Given the description of an element on the screen output the (x, y) to click on. 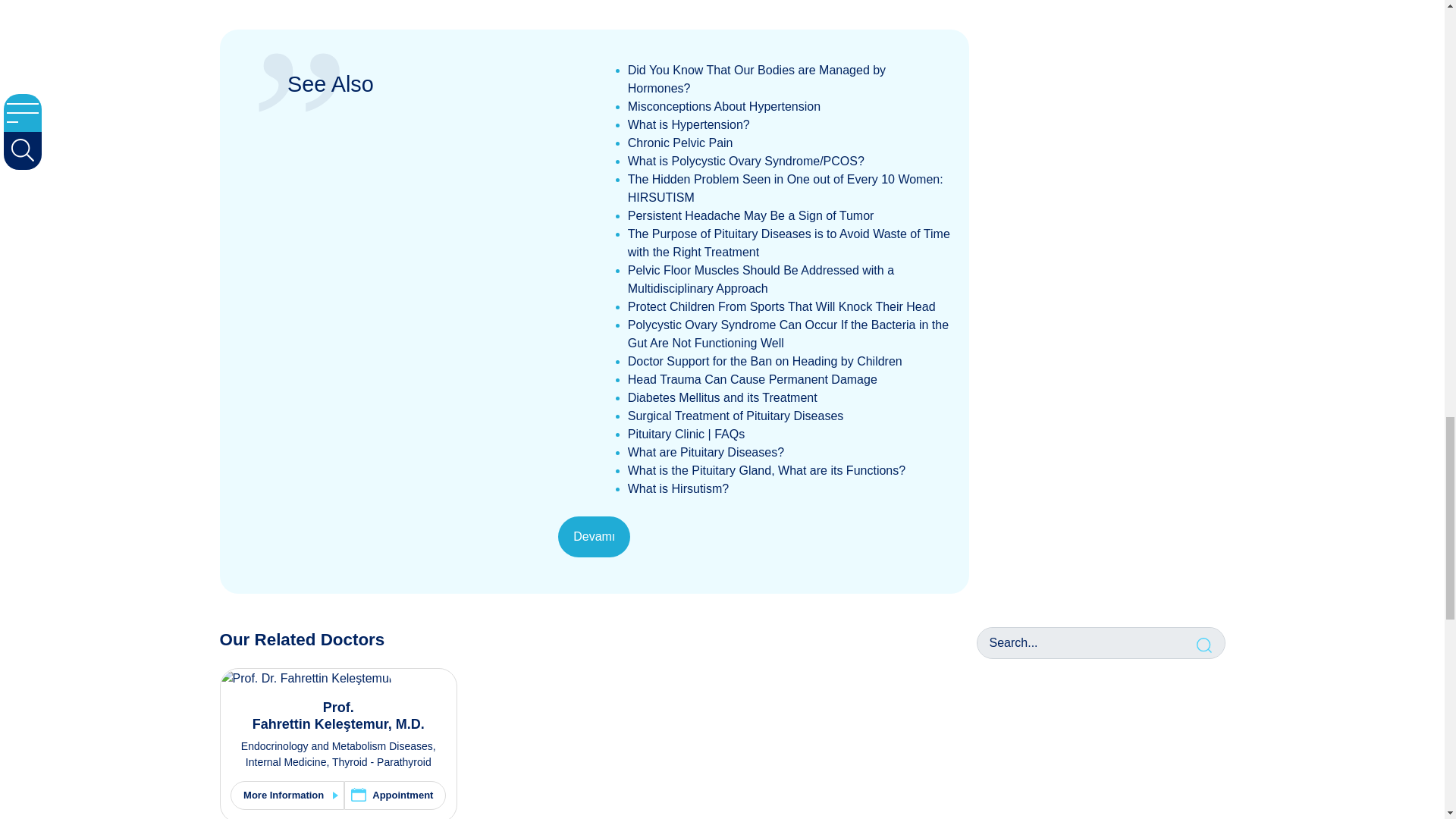
What is Hypertension? (688, 124)
Arama  (1205, 642)
Misconceptions About Hypertension (724, 106)
Did You Know That Our Bodies are Managed by Hormones? (756, 79)
Chronic Pelvic Pain (680, 142)
